Given the description of an element on the screen output the (x, y) to click on. 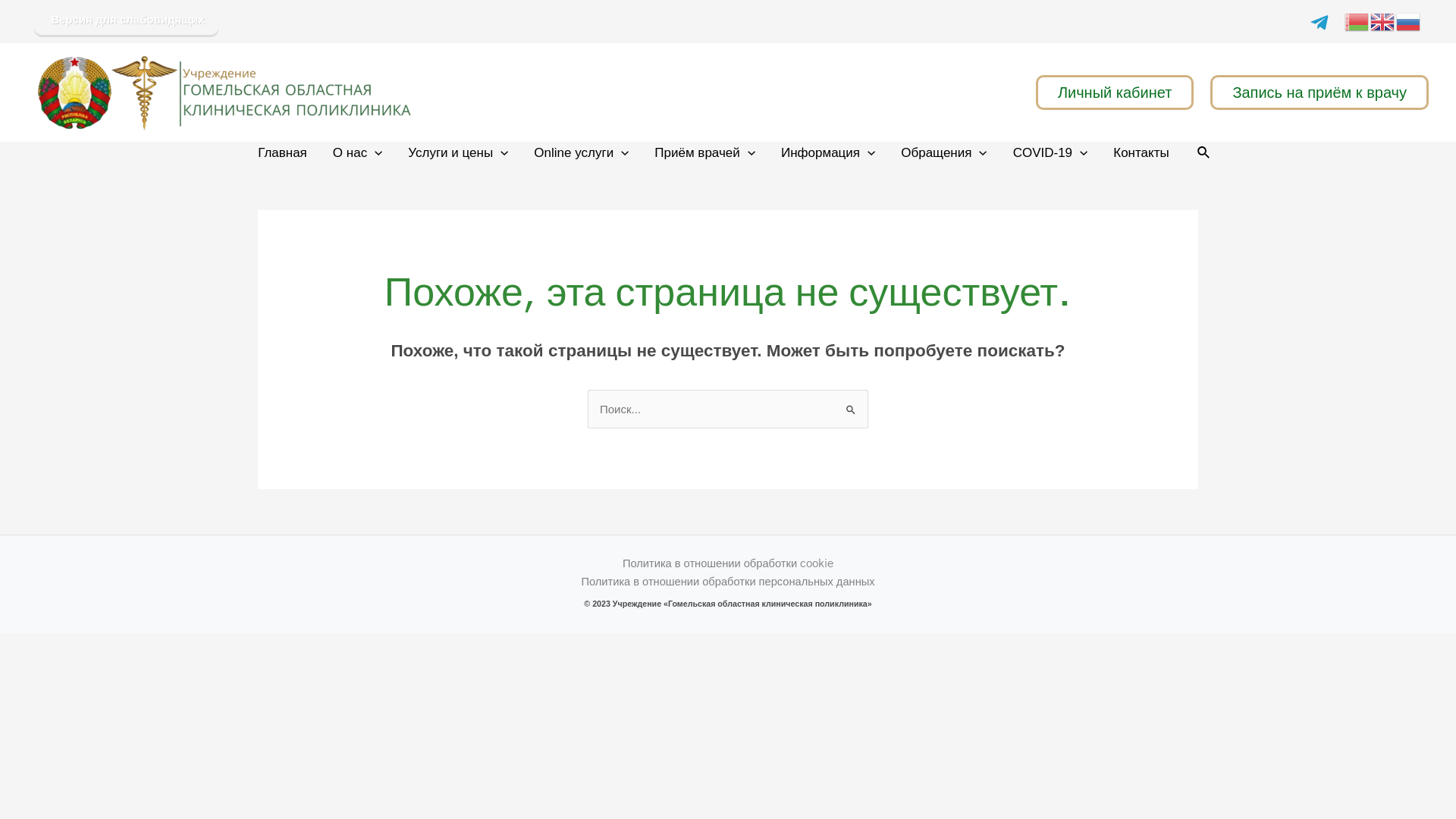
Belarusian Element type: hover (1357, 19)
COVID-19 Element type: text (1050, 152)
English Element type: hover (1383, 19)
Russian Element type: hover (1408, 19)
